Given the description of an element on the screen output the (x, y) to click on. 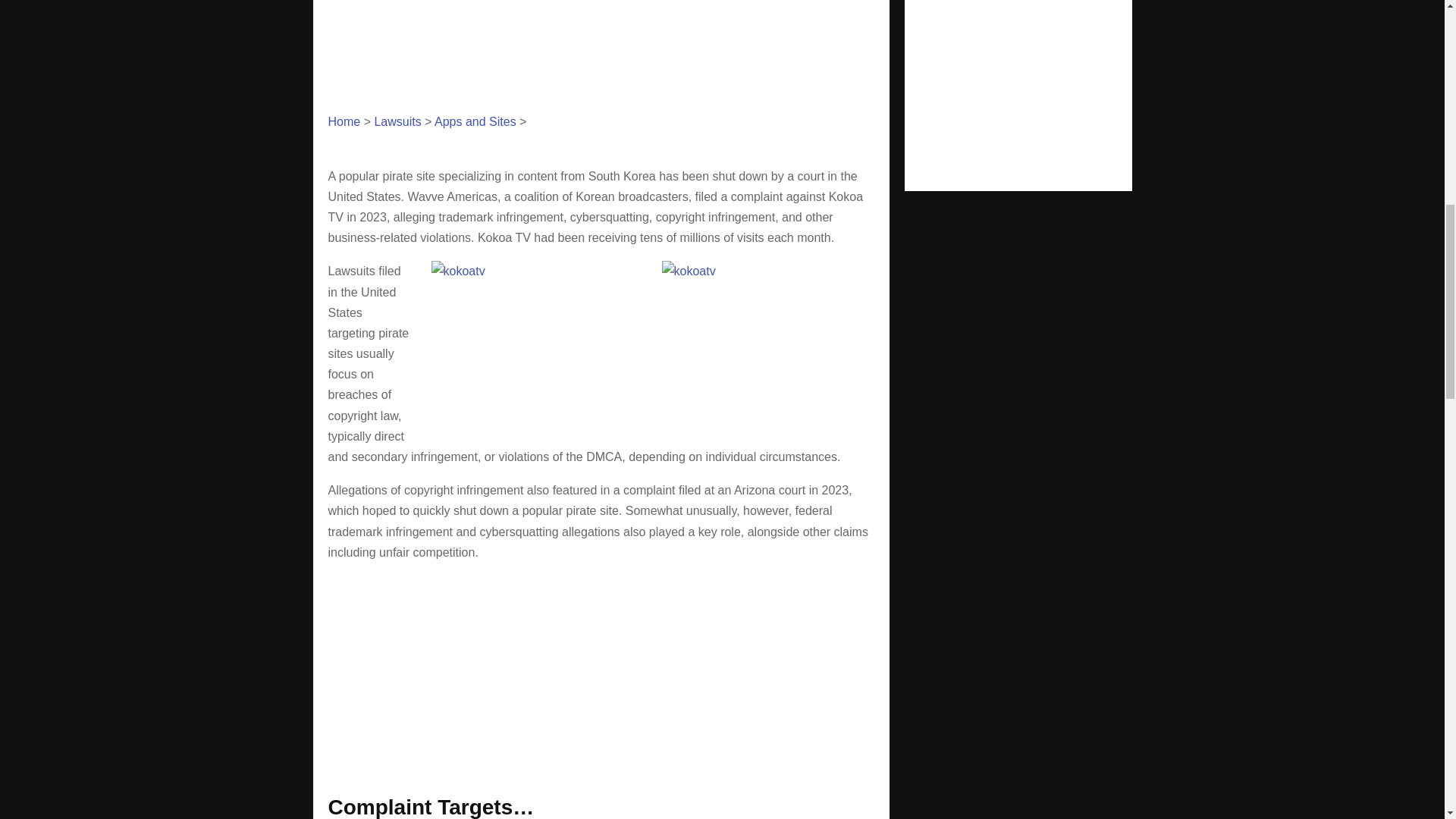
Lawsuits (397, 121)
Apps and Sites (474, 121)
Go to the Lawsuits category archives. (397, 121)
Go to the Apps and Sites category archives. (474, 121)
Go to TorrentFreak. (343, 121)
Home (343, 121)
